Given the description of an element on the screen output the (x, y) to click on. 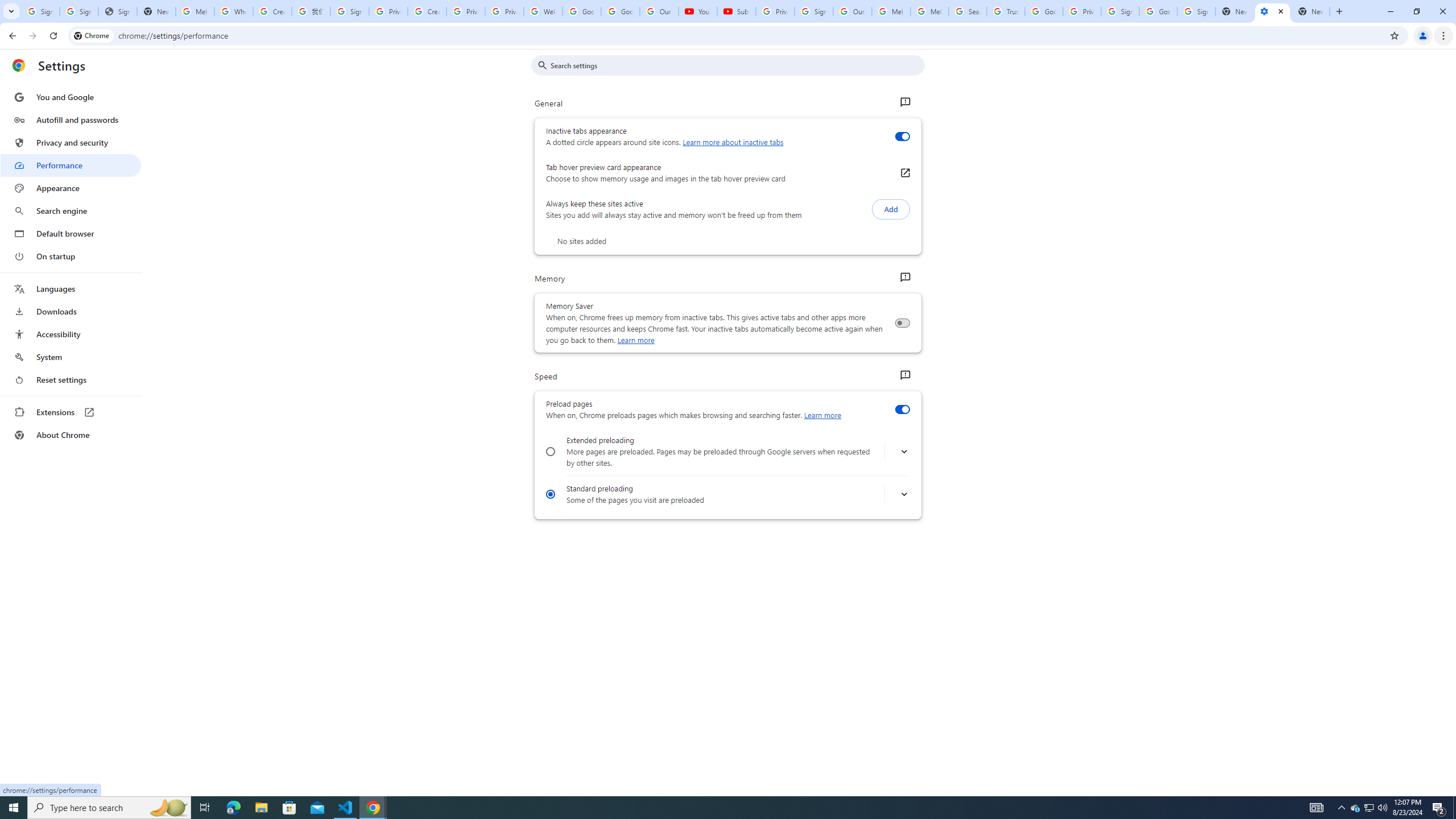
Search engine (70, 210)
Google Account (620, 11)
Autofill and passwords (70, 119)
Memory (904, 277)
Sign In - USA TODAY (117, 11)
On startup (70, 255)
New Tab (1311, 11)
AutomationID: menu (71, 265)
Performance (70, 164)
Welcome to My Activity (542, 11)
Downloads (70, 311)
